Given the description of an element on the screen output the (x, y) to click on. 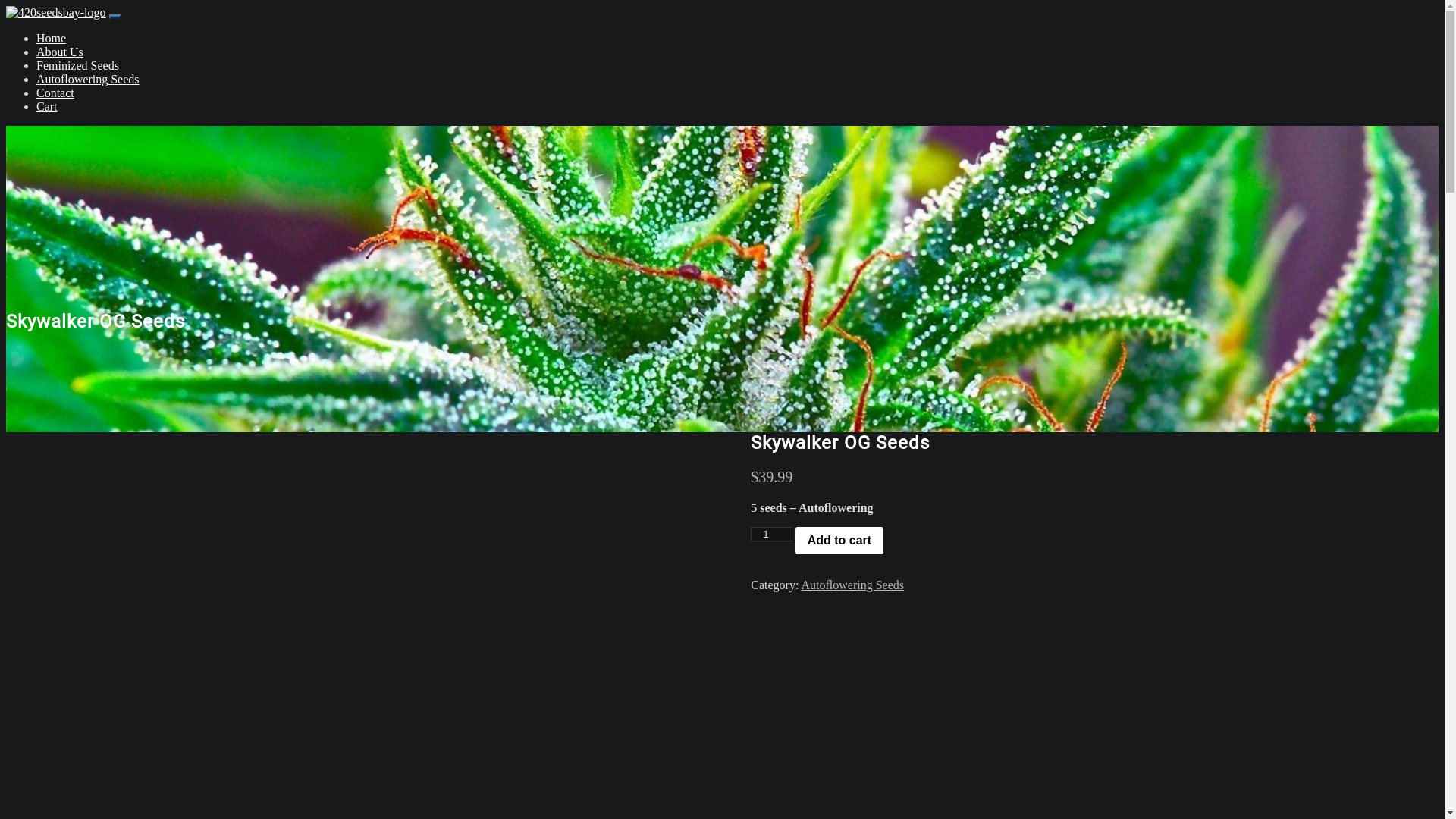
Add to cart Element type: text (839, 540)
Autoflowering Seeds Element type: text (87, 78)
Skip to content Element type: text (5, 5)
Qty Element type: hover (770, 534)
Home Element type: text (50, 37)
Feminized Seeds Element type: text (77, 65)
Autoflowering Seeds Element type: text (851, 584)
Contact Element type: text (55, 92)
Cart Element type: text (46, 106)
About Us Element type: text (59, 51)
